Given the description of an element on the screen output the (x, y) to click on. 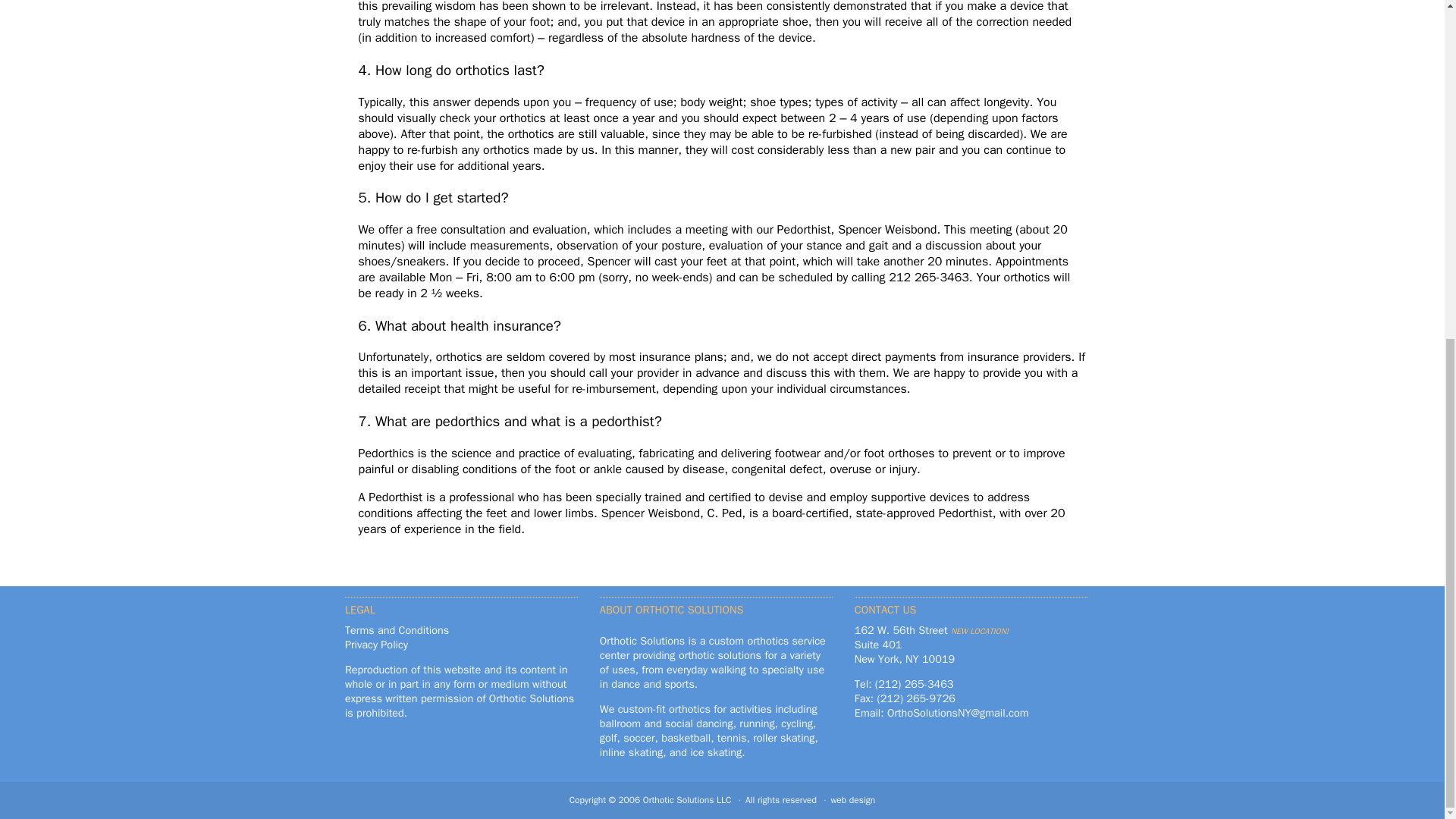
Terms and Conditions (396, 630)
web design (852, 799)
Privacy Policy (376, 644)
